Given the description of an element on the screen output the (x, y) to click on. 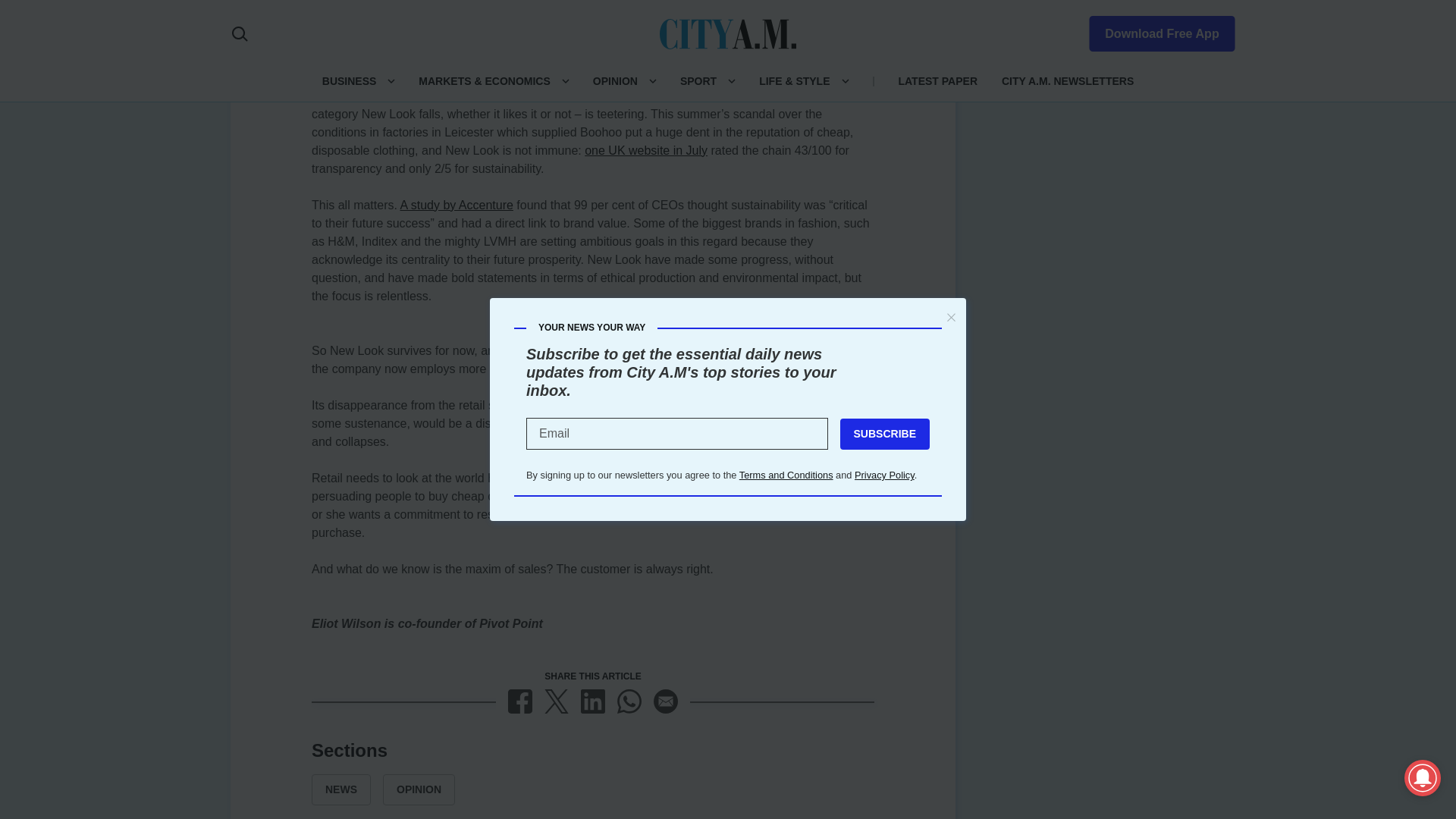
WhatsApp (629, 701)
LinkedIn (592, 701)
Email (665, 701)
X (556, 701)
Facebook (520, 701)
